Given the description of an element on the screen output the (x, y) to click on. 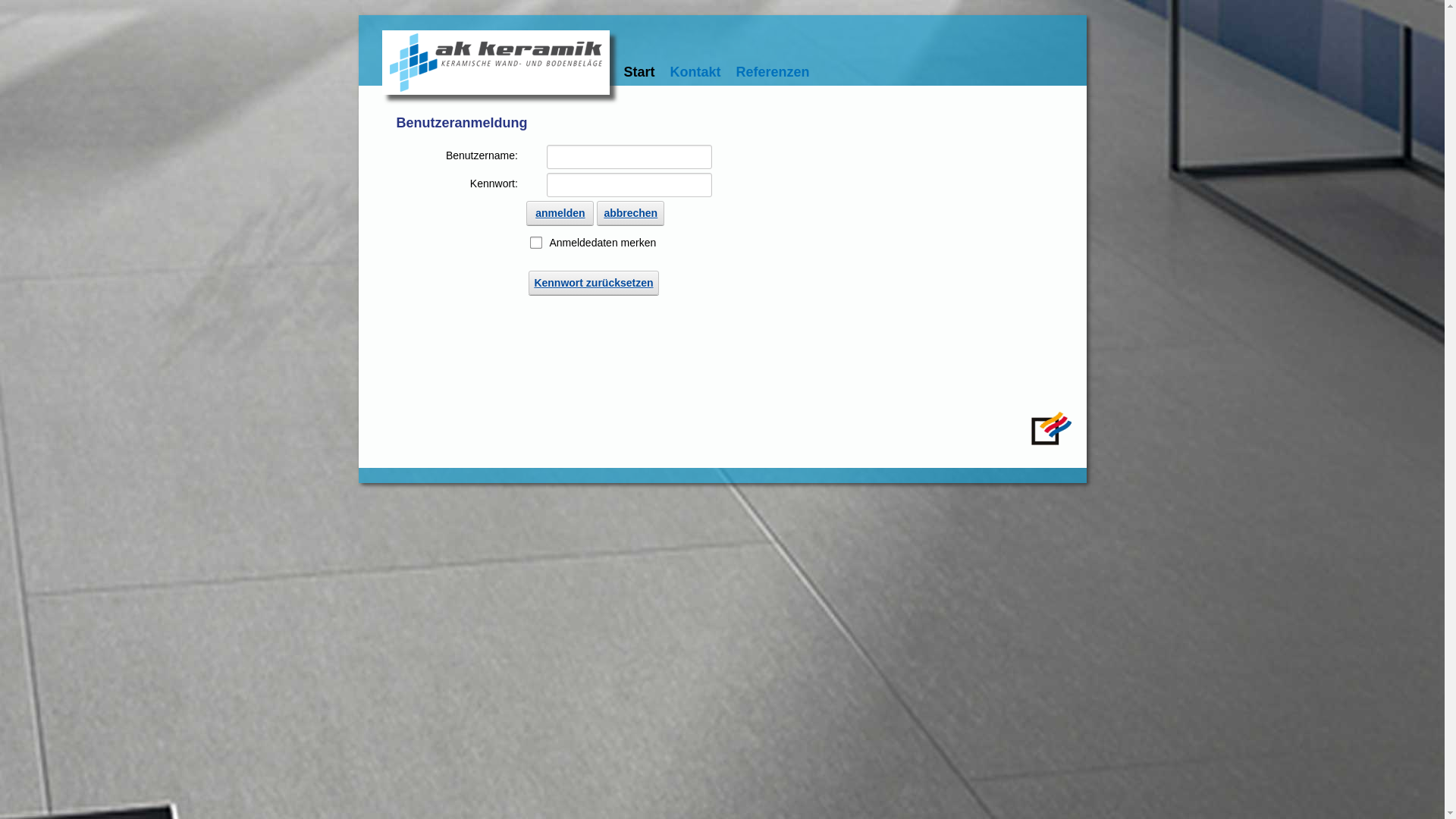
anmelden Element type: text (1419, 21)
anmelden Element type: text (559, 212)
abbrechen Element type: text (630, 212)
Start Element type: text (638, 71)
Kontakt Element type: text (695, 71)
Referenzen Element type: text (772, 71)
